Given the description of an element on the screen output the (x, y) to click on. 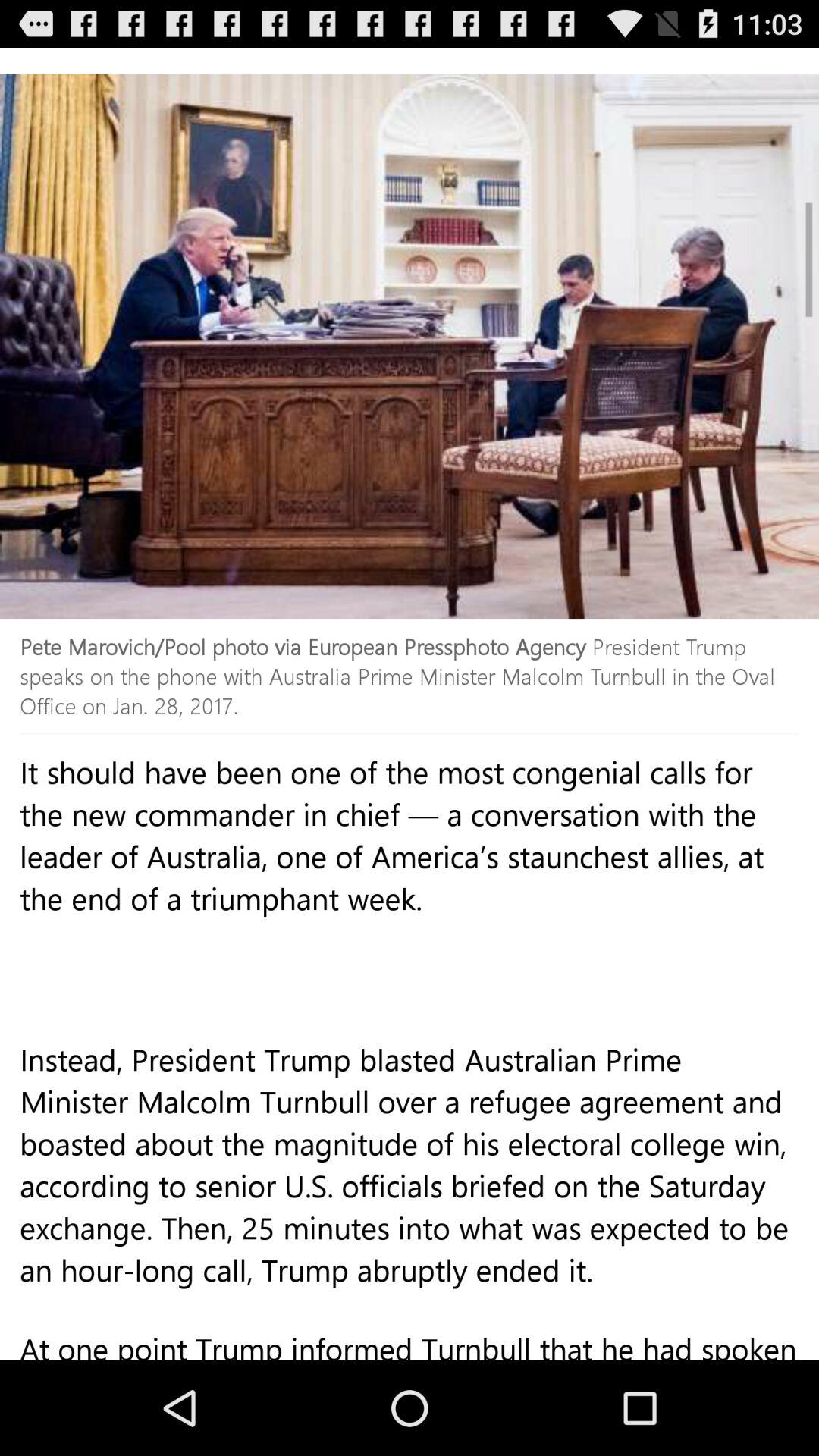
launch icon below the it should have item (409, 1197)
